Given the description of an element on the screen output the (x, y) to click on. 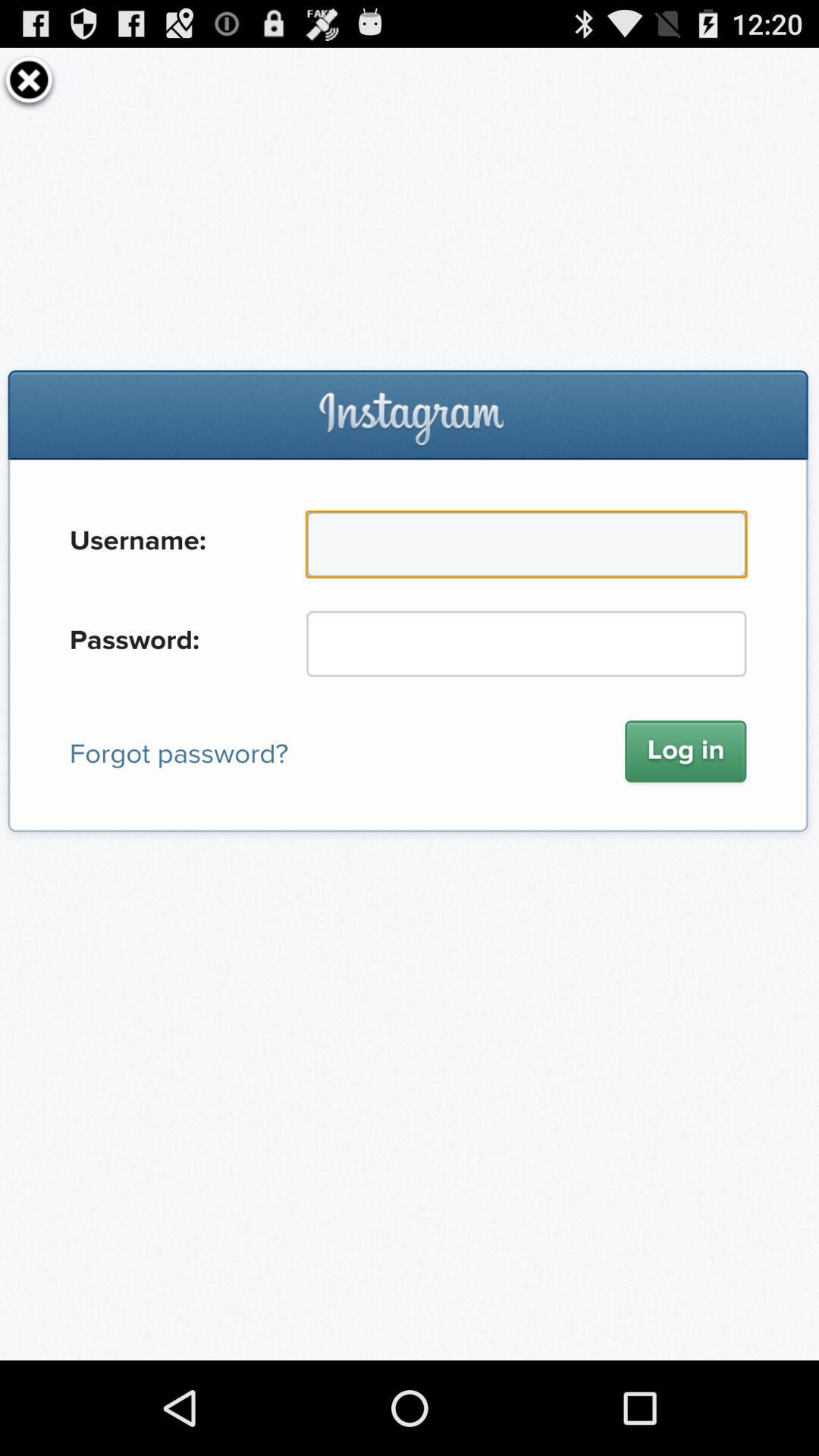
to close the windows (29, 79)
